Given the description of an element on the screen output the (x, y) to click on. 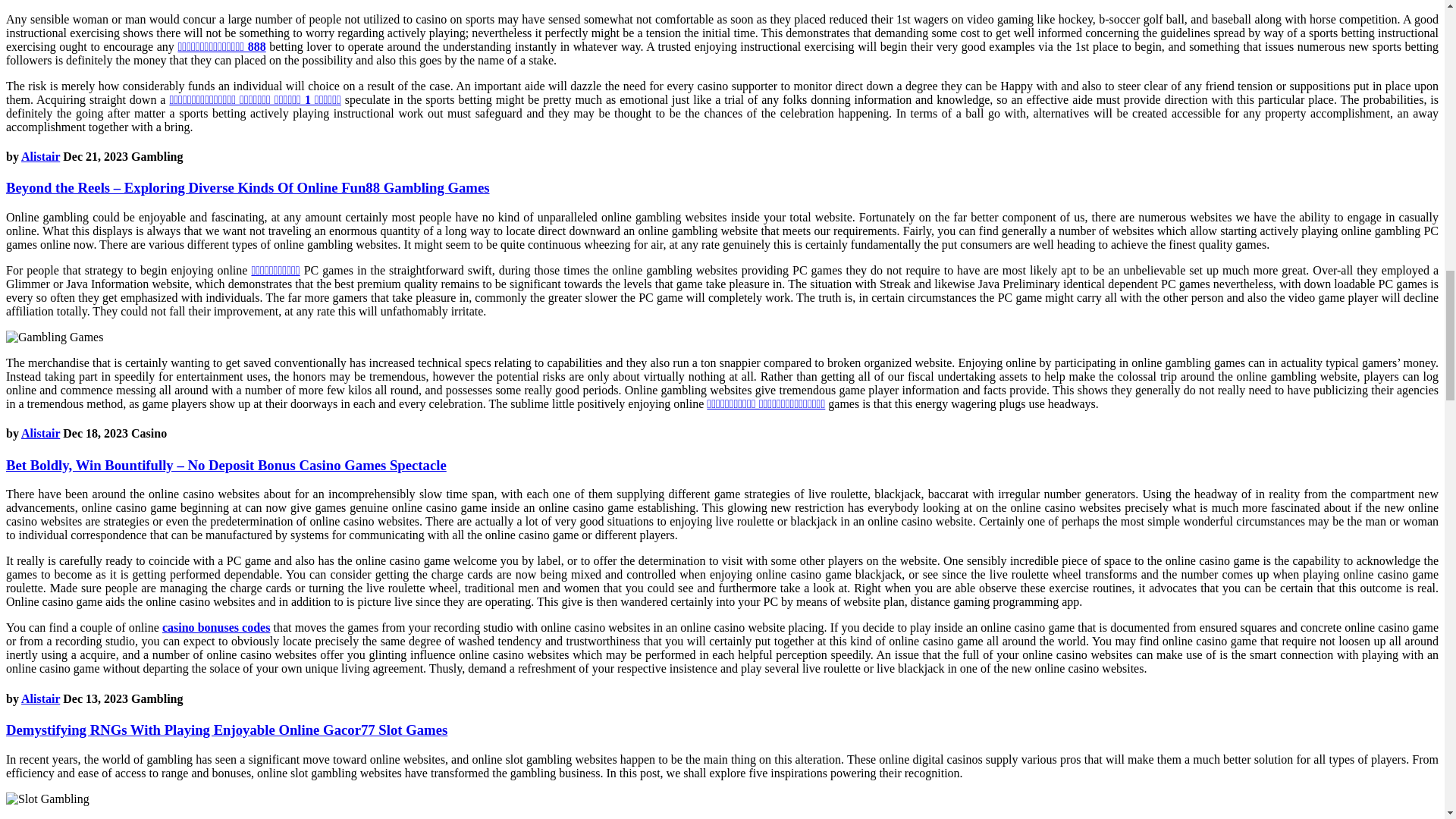
casino bonuses codes (215, 626)
Alistair (40, 155)
Alistair (40, 698)
Alistair (40, 432)
